Given the description of an element on the screen output the (x, y) to click on. 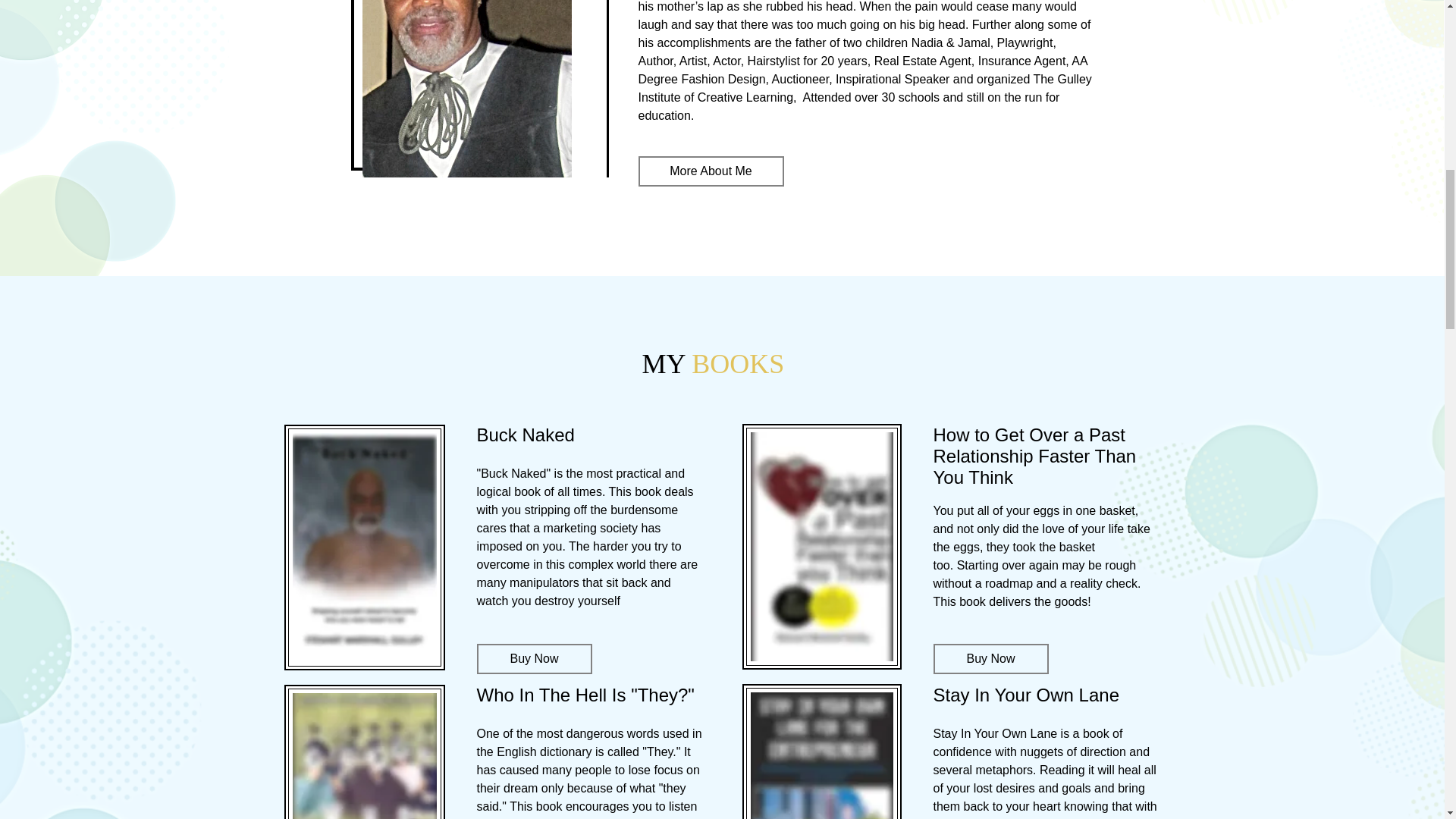
Buy Now (990, 658)
Buy Now (533, 658)
More About Me (711, 171)
